Given the description of an element on the screen output the (x, y) to click on. 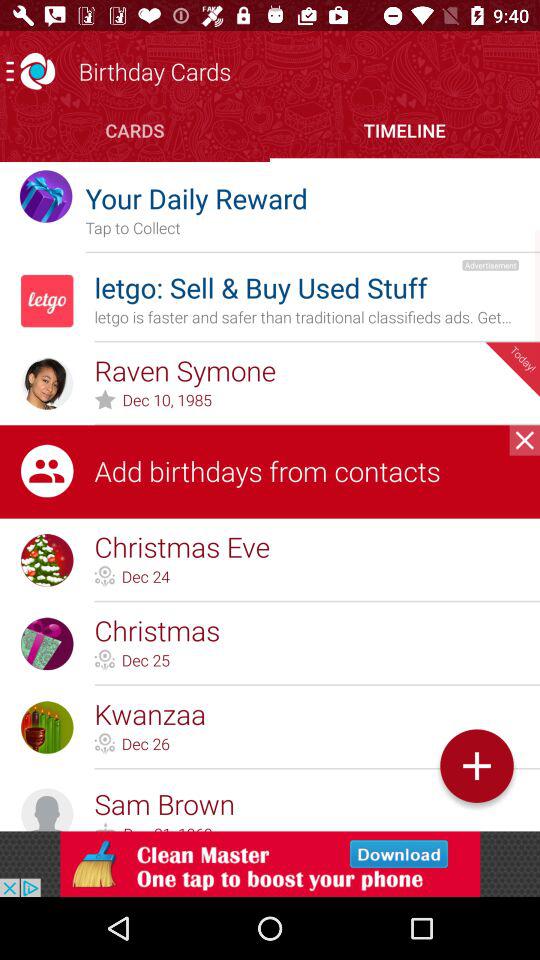
download sponsored app (270, 864)
